Given the description of an element on the screen output the (x, y) to click on. 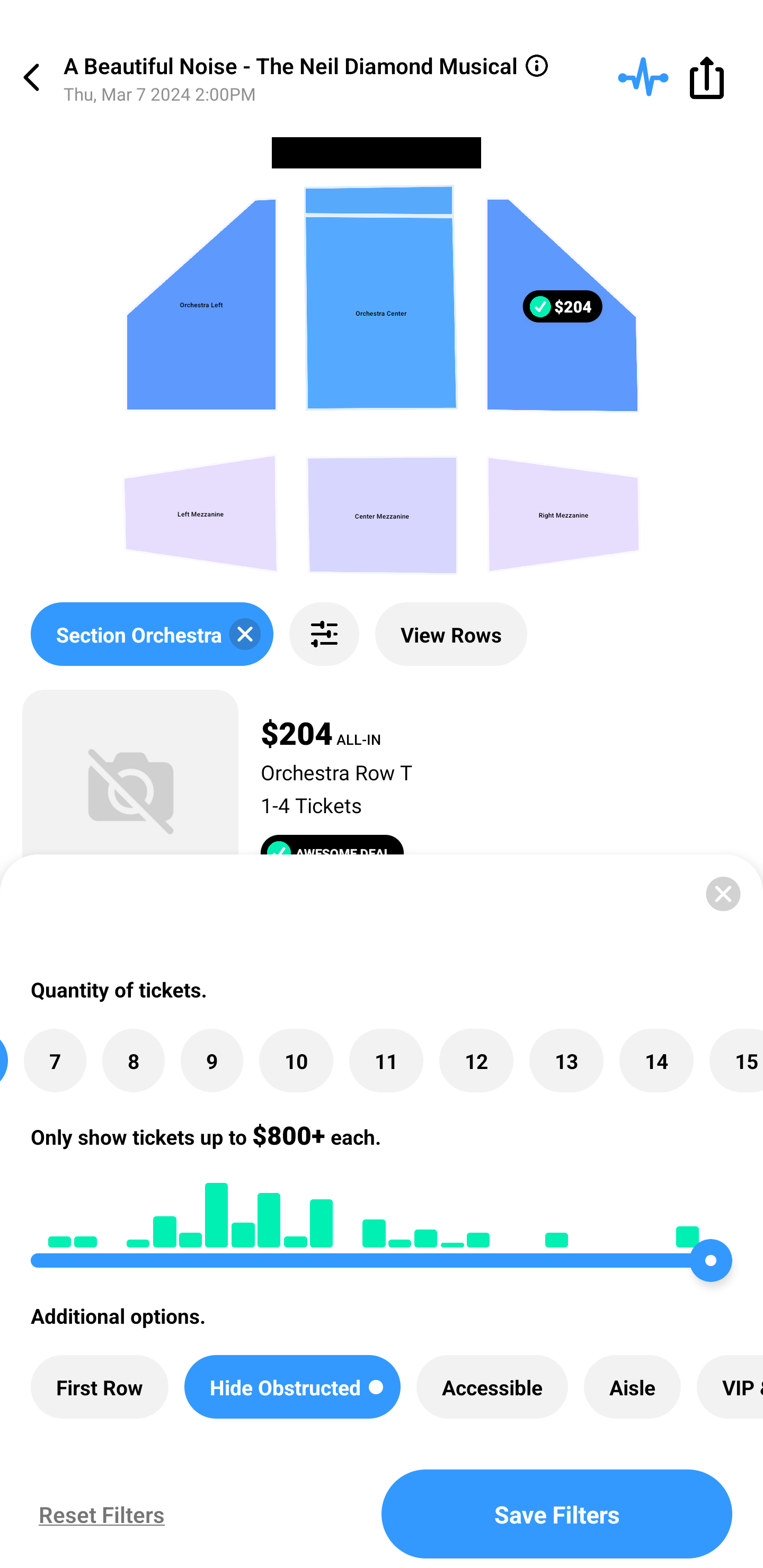
7 (54, 1060)
8 (133, 1060)
9 (211, 1060)
10 (296, 1060)
11 (386, 1060)
12 (476, 1060)
13 (566, 1060)
14 (656, 1060)
15 (736, 1060)
First Row (99, 1386)
Hide Obstructed (292, 1386)
Accessible (491, 1386)
Aisle (631, 1386)
VIP & Add-Ons (729, 1386)
Save Filters (556, 1513)
Reset Filters (97, 1513)
